Given the description of an element on the screen output the (x, y) to click on. 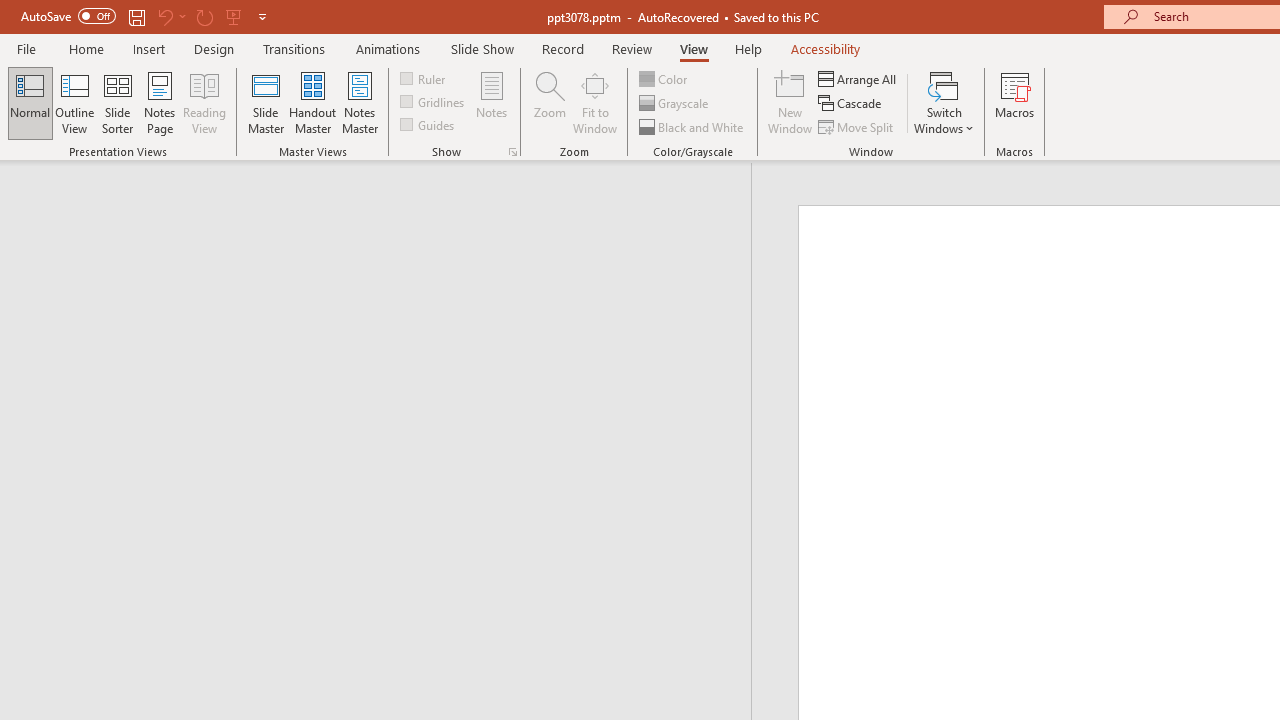
Notes Page (159, 102)
New Window (790, 102)
Slide Master (265, 102)
Color (664, 78)
Fit to Window (594, 102)
Handout Master (312, 102)
Notes Master (360, 102)
